Given the description of an element on the screen output the (x, y) to click on. 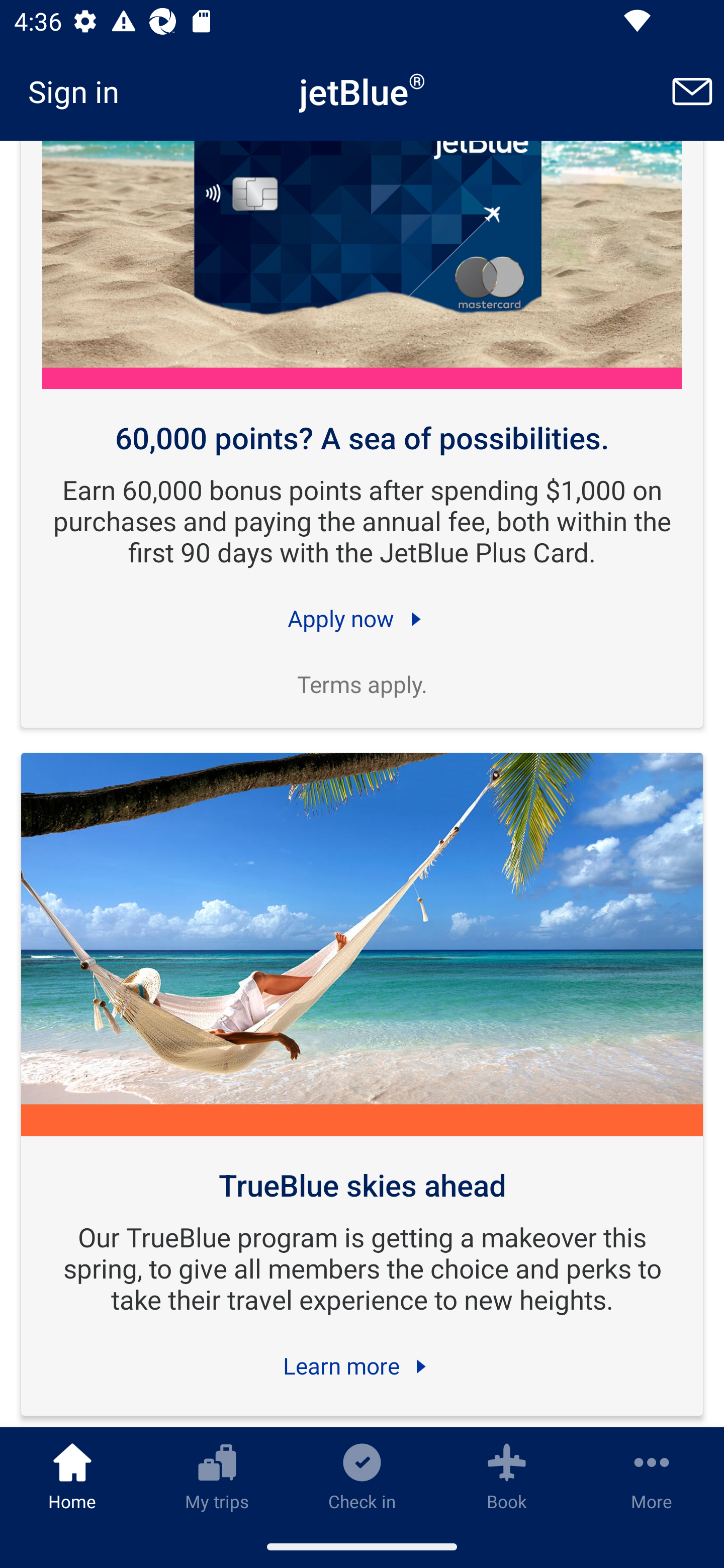
Sign in (80, 91)
Apply now (361, 618)
Learn more (361, 1366)
My trips (216, 1475)
Check in (361, 1475)
Book (506, 1475)
More (651, 1475)
